Given the description of an element on the screen output the (x, y) to click on. 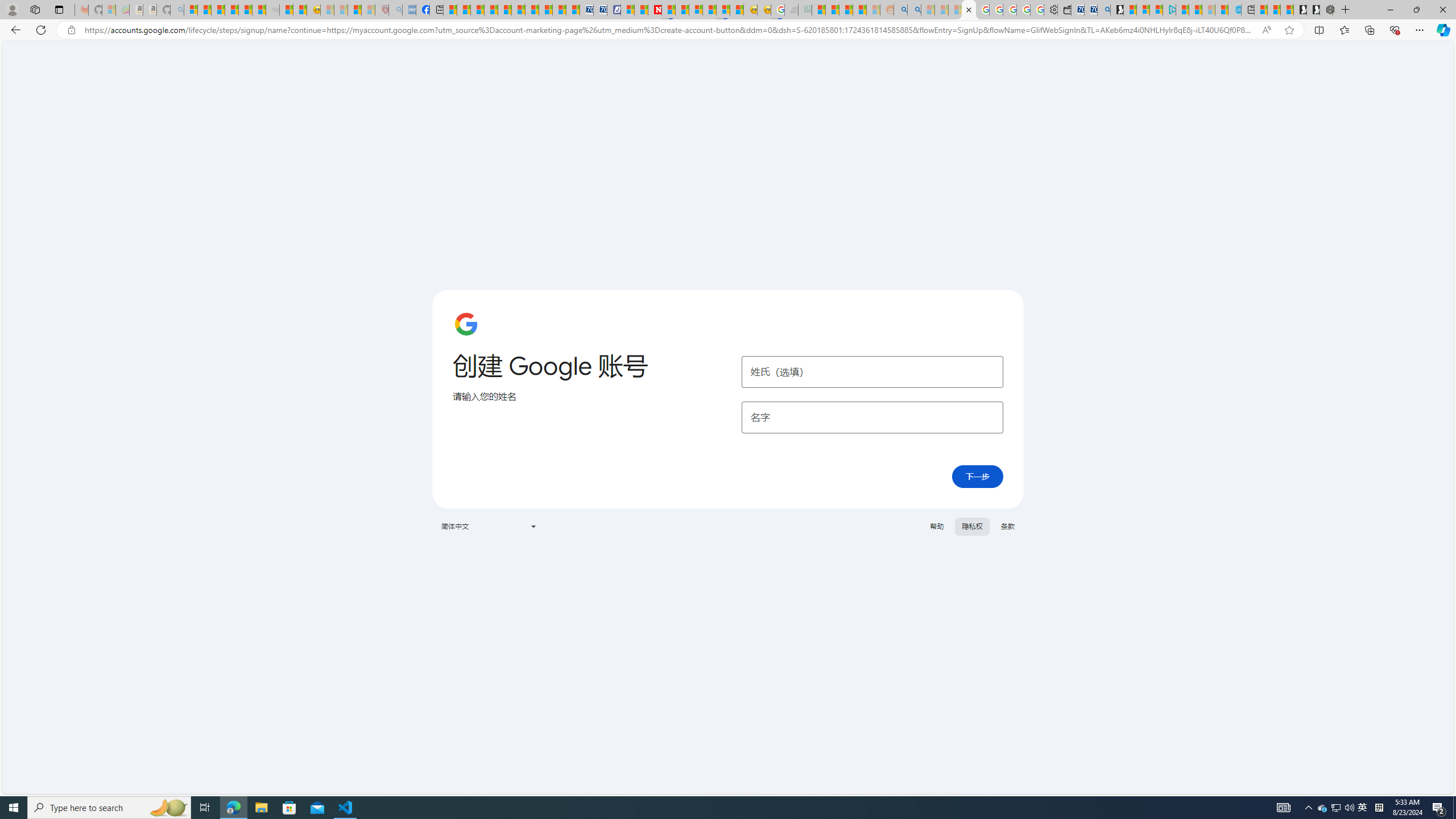
Wallet (1063, 9)
Navy Quest (791, 9)
Combat Siege - Sleeping (271, 9)
Latest Politics News & Archive | Newsweek.com (654, 9)
Class: VfPpkd-t08AT-Bz112c-Bd00G (532, 526)
